Given the description of an element on the screen output the (x, y) to click on. 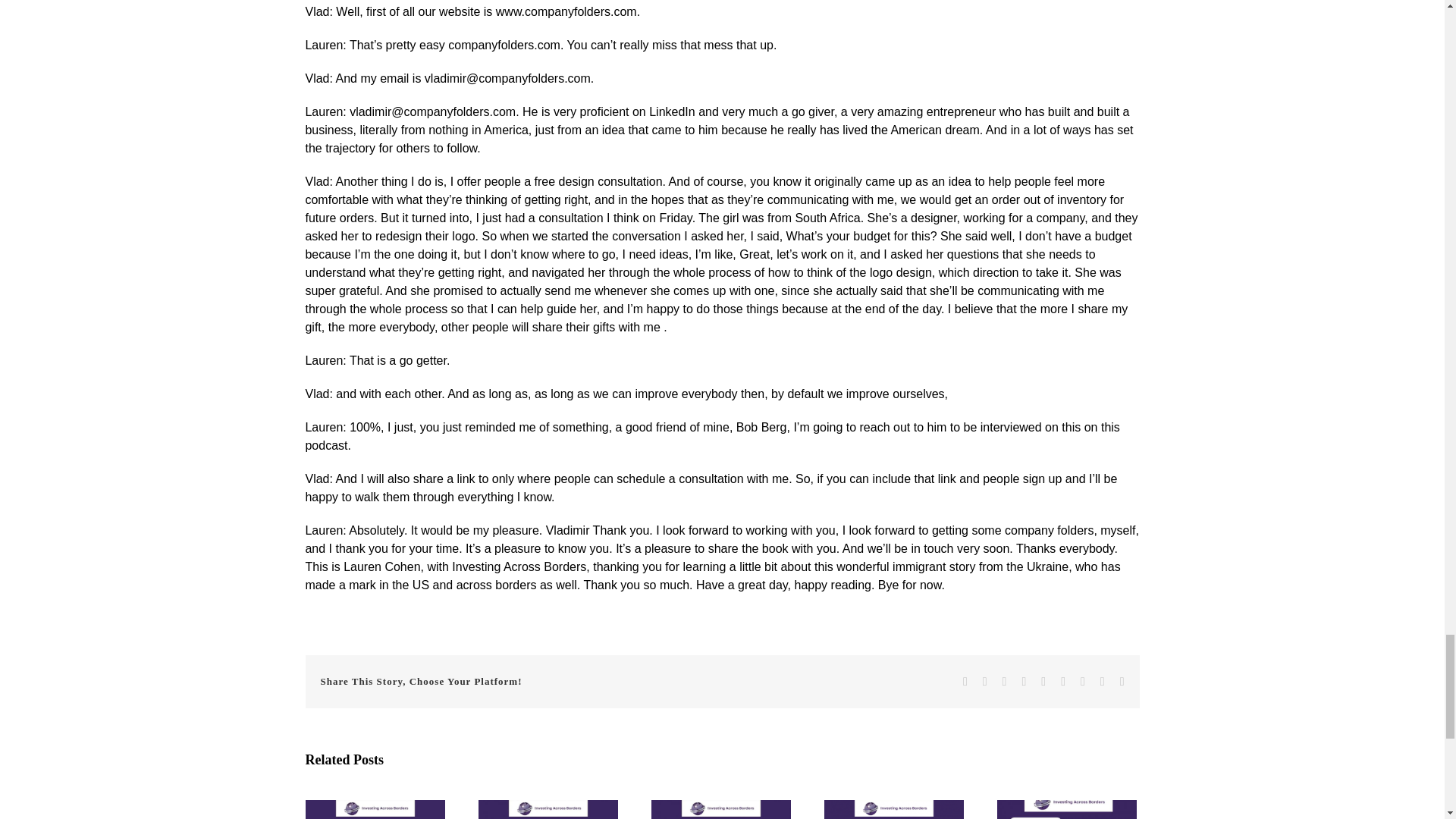
Vk (1102, 681)
Reddit (1005, 681)
Tumblr (1063, 681)
WhatsApp (1043, 681)
Twitter (984, 681)
LinkedIn (1024, 681)
Pinterest (1082, 681)
Email (1121, 681)
Facebook (965, 681)
